Given the description of an element on the screen output the (x, y) to click on. 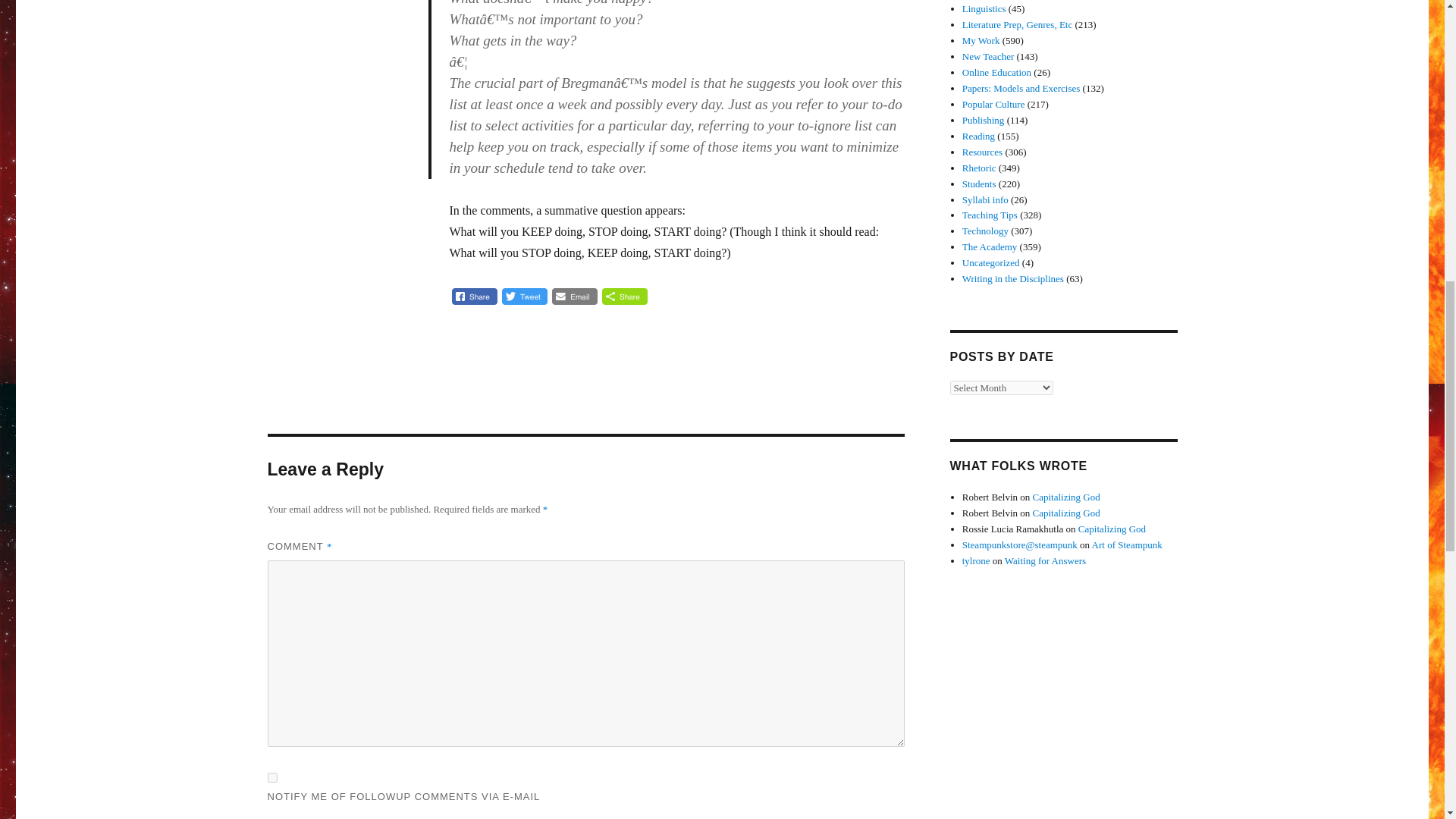
My Work (981, 40)
Papers: Models and Exercises (1021, 88)
Publishing (983, 120)
Online Education (996, 71)
New Teacher (988, 56)
subscribe (271, 777)
Popular Culture (993, 103)
Linguistics (984, 8)
Literature Prep, Genres, Etc (1016, 24)
